Given the description of an element on the screen output the (x, y) to click on. 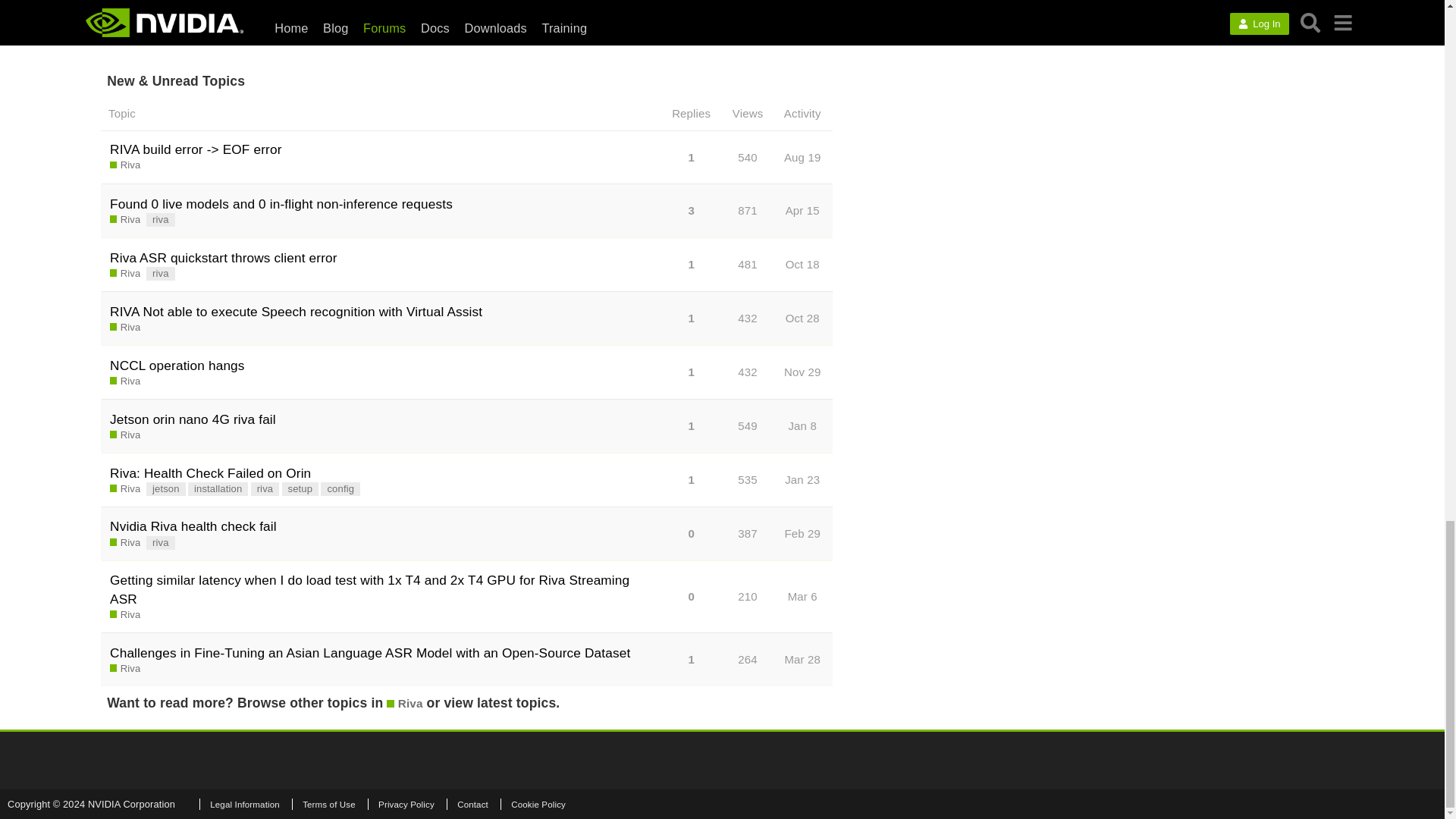
Reply (633, 17)
